Given the description of an element on the screen output the (x, y) to click on. 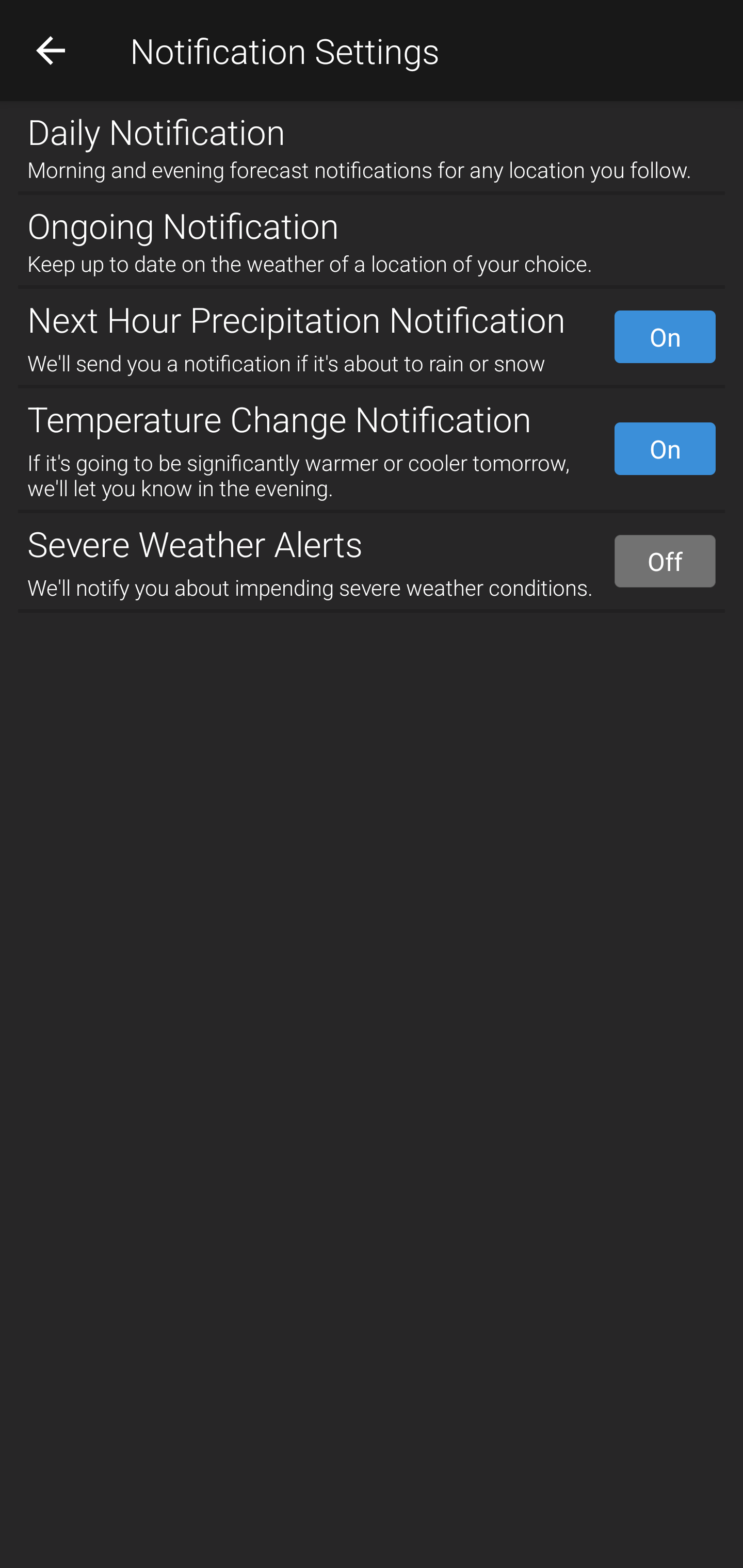
Navigate up (50, 50)
Daily Notification (371, 127)
Ongoing Notification (371, 221)
On (664, 336)
On (664, 448)
Off (664, 561)
